Given the description of an element on the screen output the (x, y) to click on. 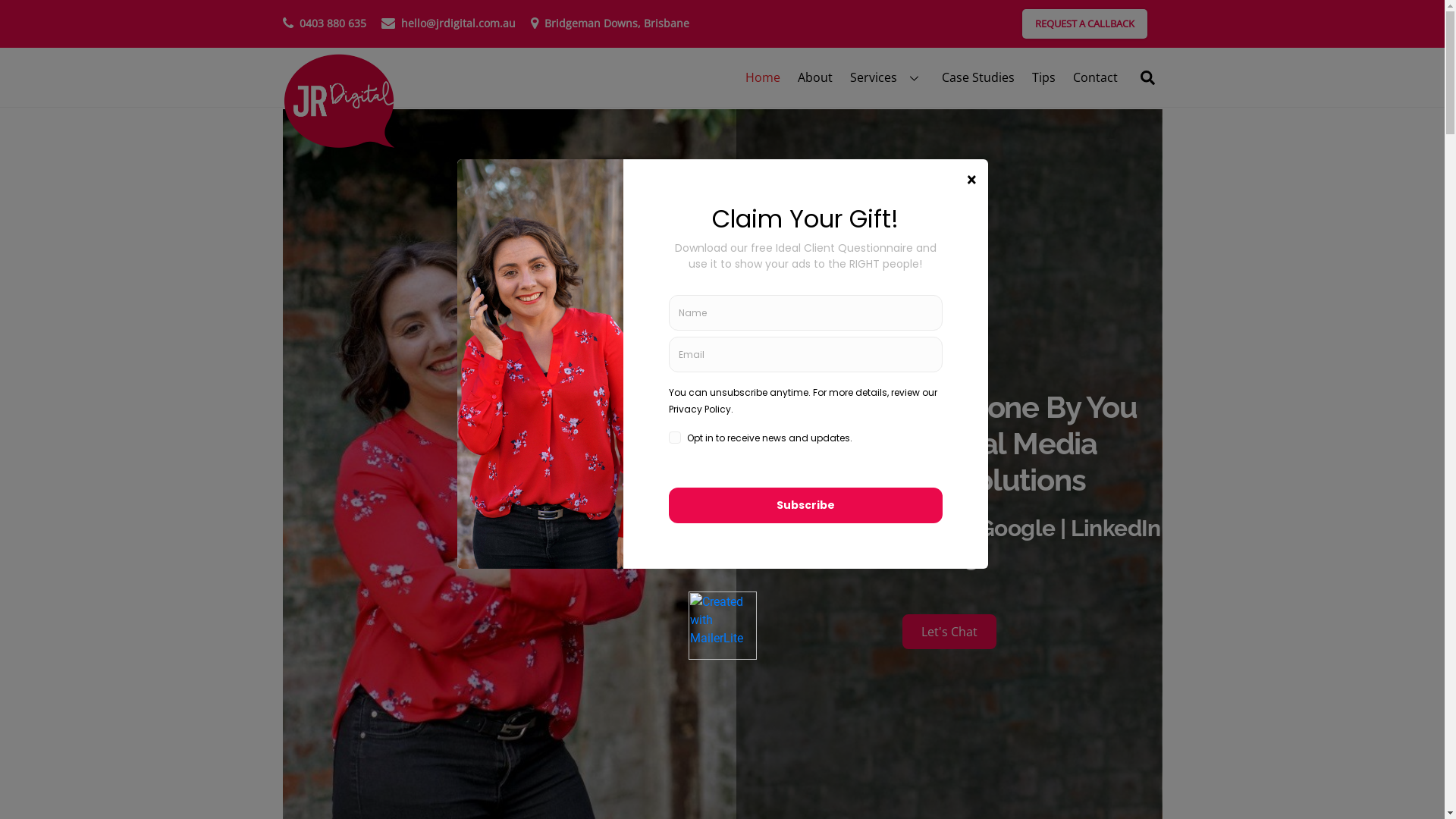
hello@jrdigital.com.au Element type: text (447, 23)
Tips Element type: text (1043, 76)
Search Element type: text (1147, 76)
0403 880 635 Element type: text (323, 23)
Contact Element type: text (1094, 76)
JR Digital Element type: hover (338, 101)
Bridgeman Downs, Brisbane Element type: text (609, 23)
Home Element type: text (762, 76)
About Element type: text (814, 76)
REQUEST A CALLBACK Element type: text (1084, 23)
Case Studies Element type: text (977, 76)
Services Element type: text (886, 76)
Let's Chat Element type: text (949, 631)
JR Digital Element type: hover (338, 141)
